Given the description of an element on the screen output the (x, y) to click on. 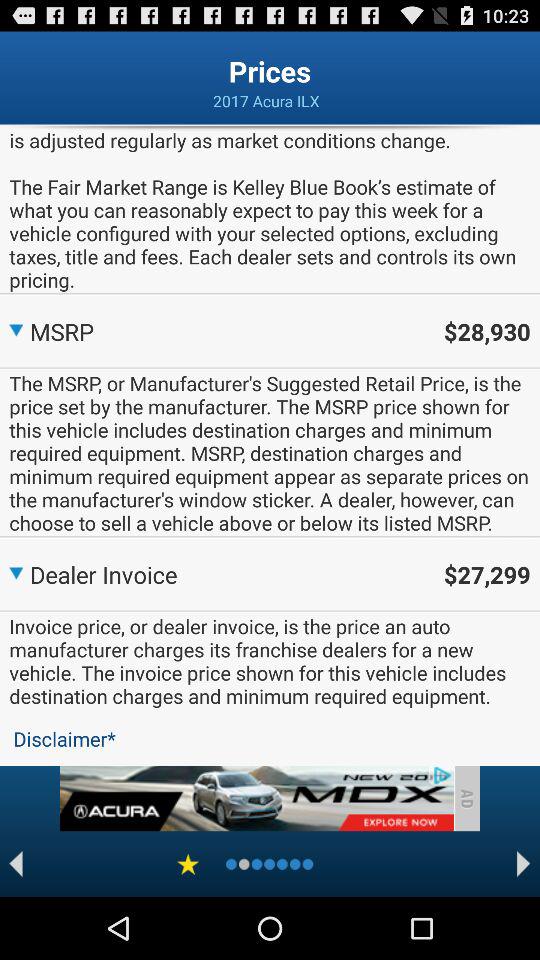
review (188, 864)
